Given the description of an element on the screen output the (x, y) to click on. 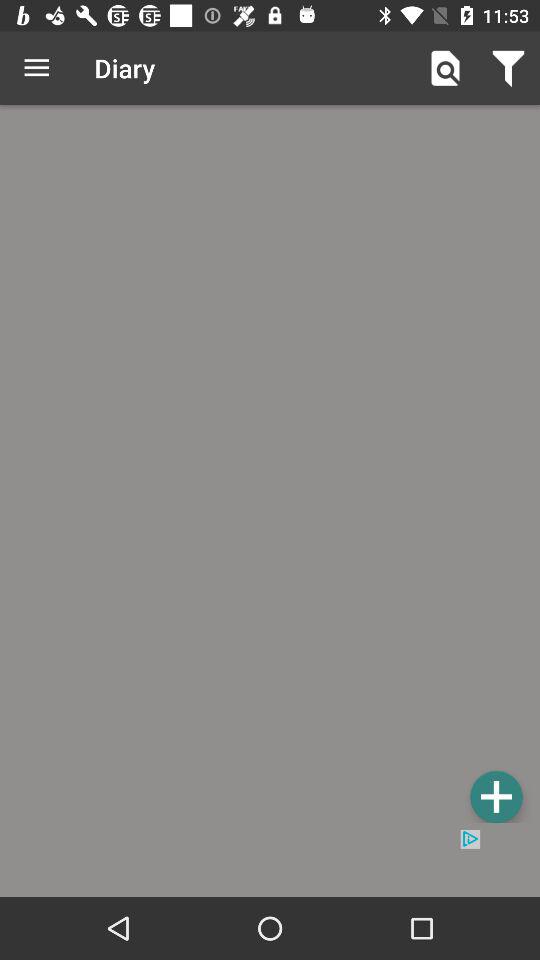
turn on the icon next to the diary item (444, 67)
